Given the description of an element on the screen output the (x, y) to click on. 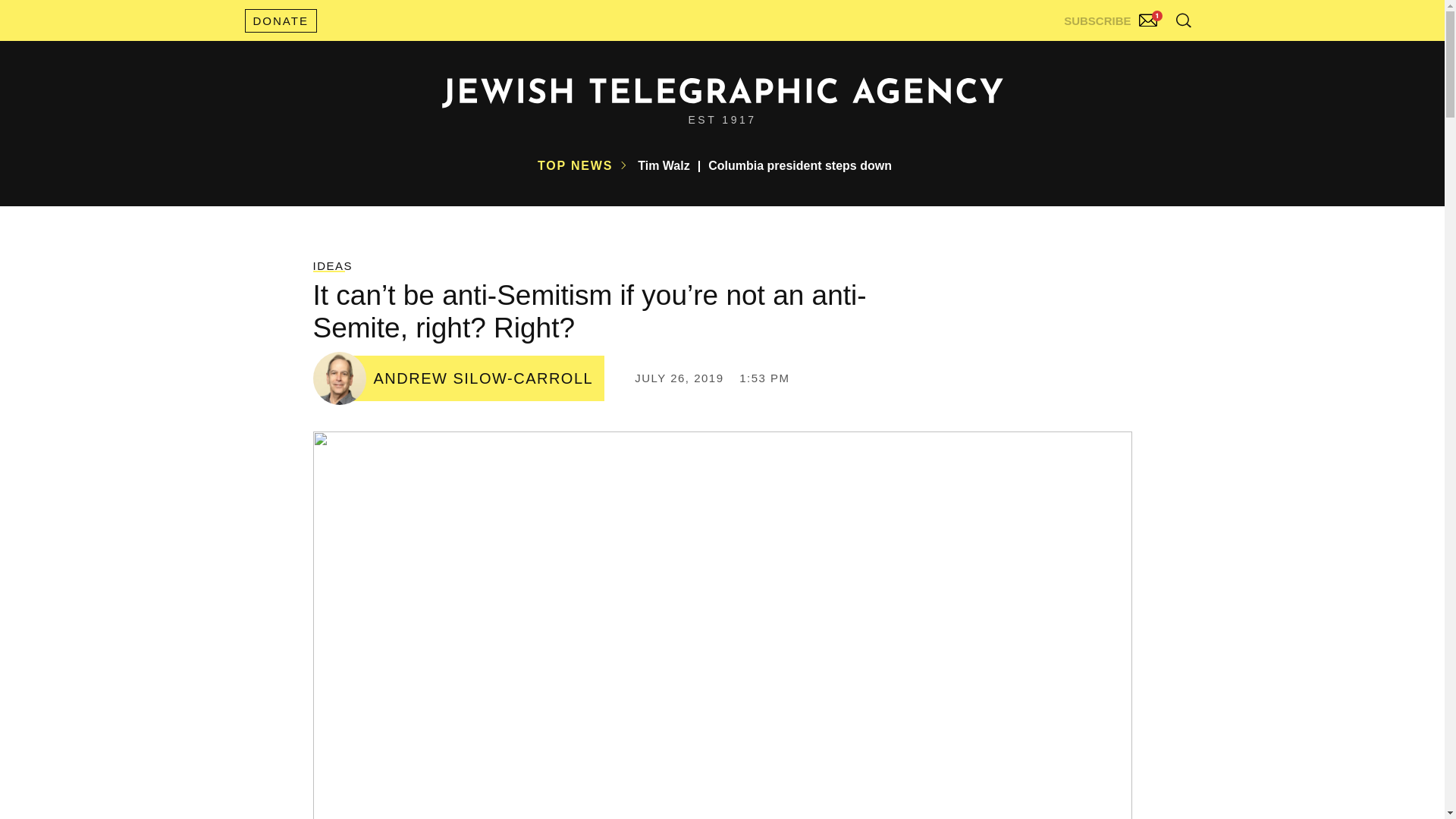
Search (1144, 53)
SEARCH TOGGLESEARCH TOGGLE (1182, 20)
DONATE (279, 20)
SUBSCRIBE (1112, 17)
